Given the description of an element on the screen output the (x, y) to click on. 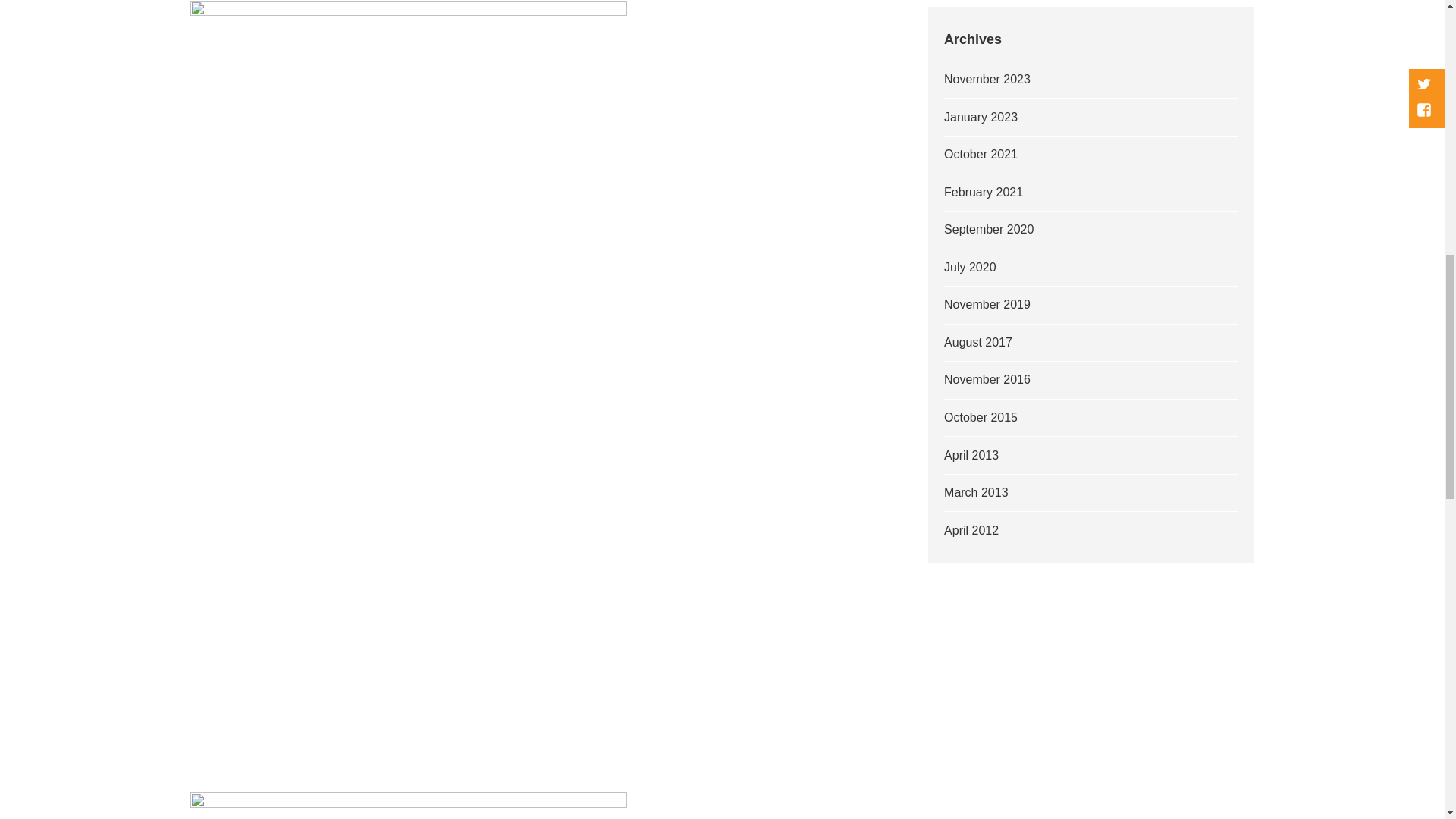
November 2019 (986, 304)
November 2023 (986, 78)
January 2023 (980, 116)
April 2013 (970, 454)
October 2015 (980, 417)
October 2021 (980, 154)
July 2020 (969, 267)
November 2016 (986, 379)
February 2021 (983, 192)
September 2020 (988, 228)
